Given the description of an element on the screen output the (x, y) to click on. 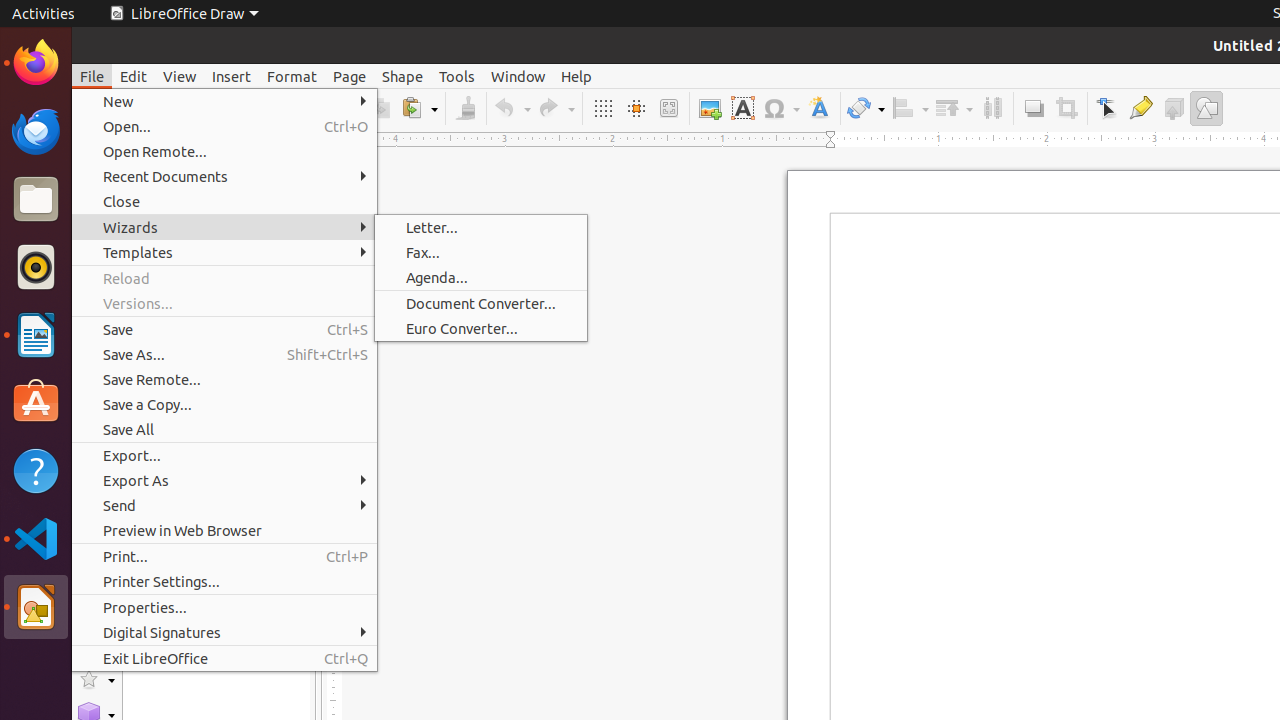
Undo Element type: push-button (512, 108)
Close Element type: menu-item (224, 201)
Tools Element type: menu (457, 76)
Page Element type: menu (349, 76)
Insert Element type: menu (231, 76)
